Given the description of an element on the screen output the (x, y) to click on. 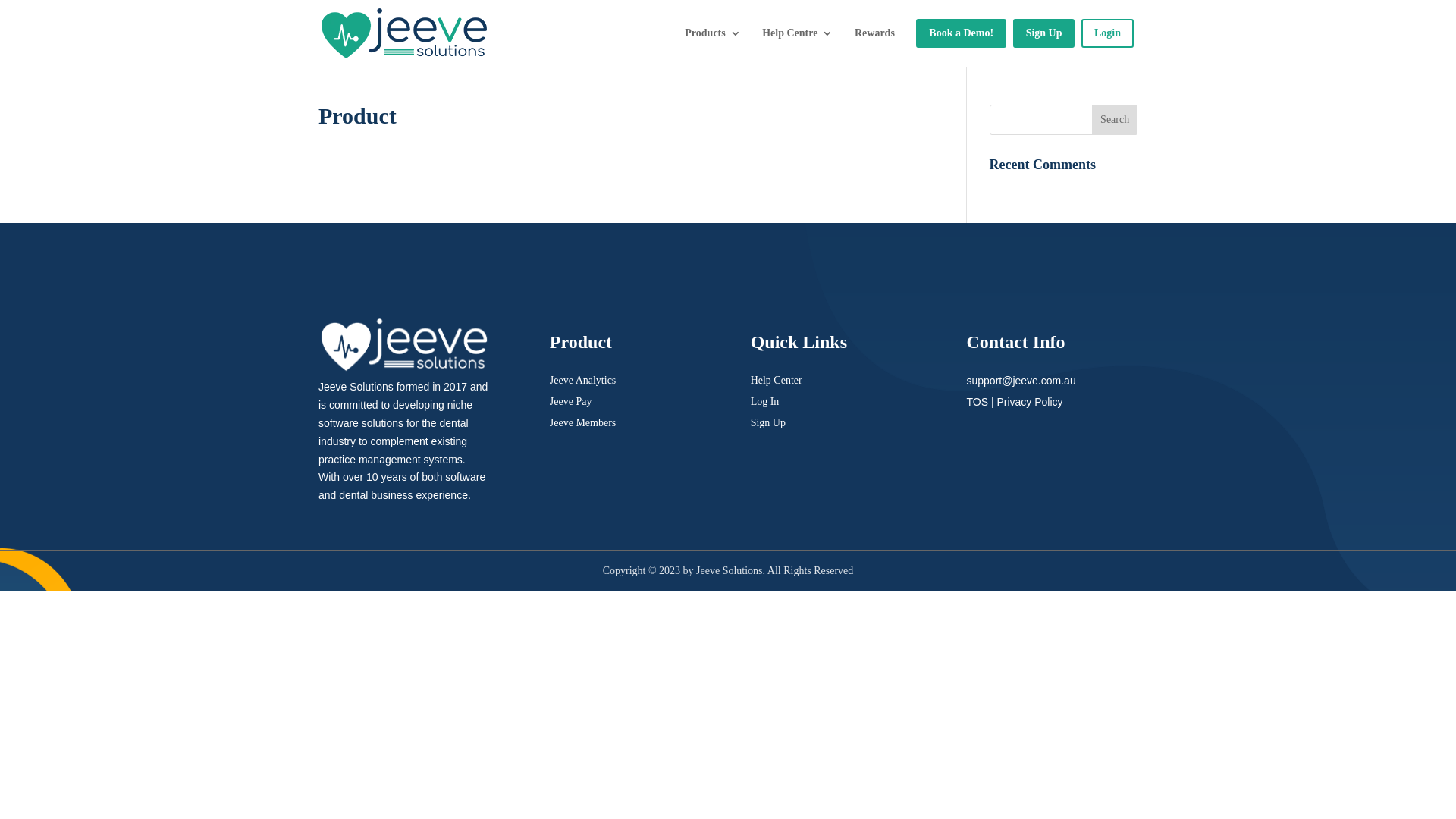
Help Centre Element type: text (791, 33)
Book a Demo! Element type: text (961, 32)
Rewards Element type: text (874, 33)
Search Element type: text (1114, 119)
Sign Up Element type: text (1044, 32)
Help Center Element type: text (776, 379)
Jeeve Members Element type: text (582, 422)
Sign Up Element type: text (767, 422)
Jeeve Pay Element type: text (570, 401)
Jeeve Analytics Element type: text (582, 379)
Privacy Policy Element type: text (1029, 401)
Login Element type: text (1107, 32)
support@jeeve.com.au Element type: text (1020, 380)
Products Element type: text (706, 33)
Log In Element type: text (764, 401)
